Given the description of an element on the screen output the (x, y) to click on. 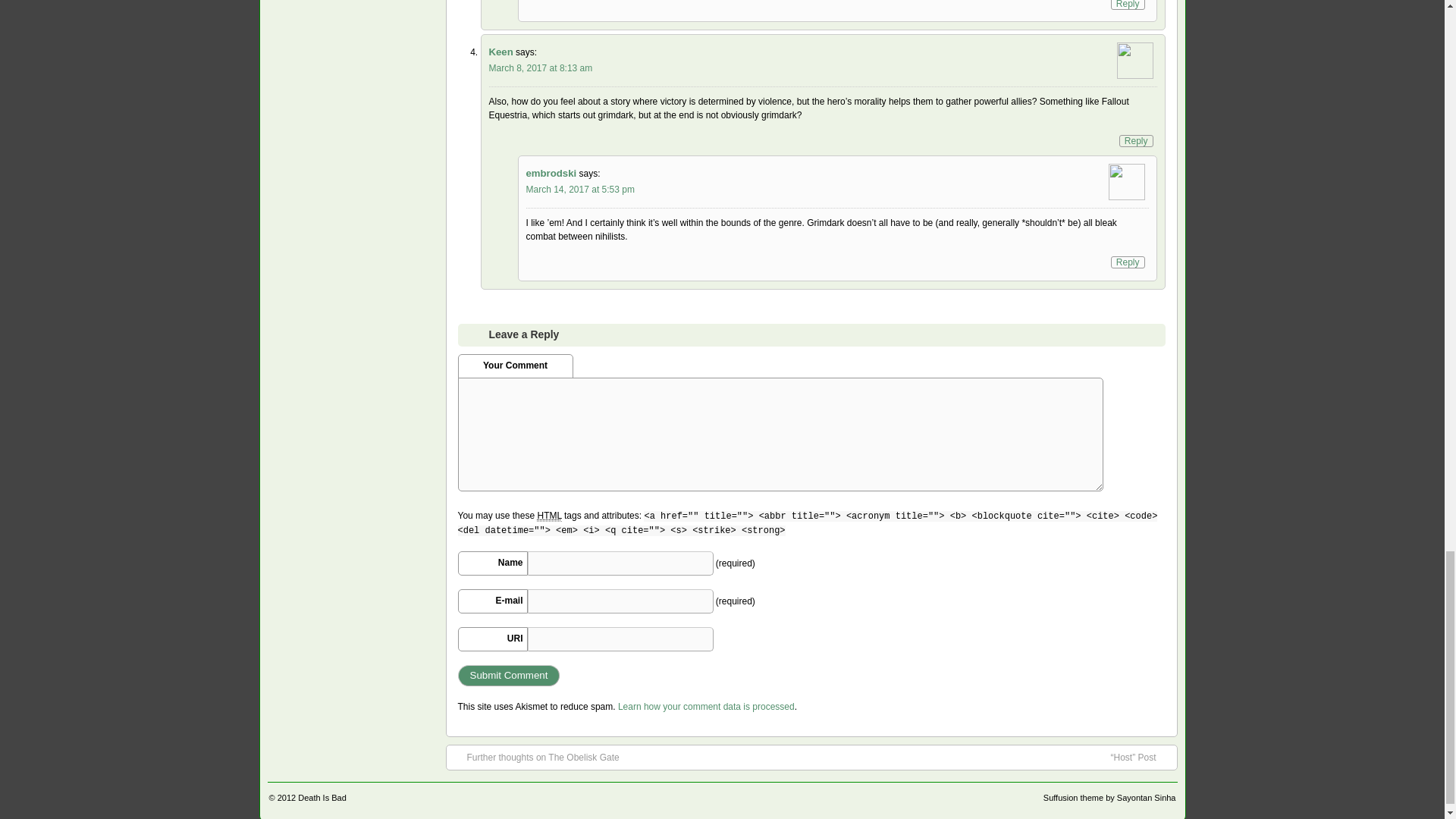
Submit Comment (509, 675)
Reply (1127, 262)
Submit Comment (509, 675)
Learn how your comment data is processed (705, 706)
March 14, 2017 at 5:53 pm (579, 189)
Reply (1136, 141)
March 8, 2017 at 8:13 am (539, 68)
  Further thoughts on The Obelisk Gate (535, 757)
HyperText Markup Language (548, 515)
Death Is Bad (322, 797)
